Given the description of an element on the screen output the (x, y) to click on. 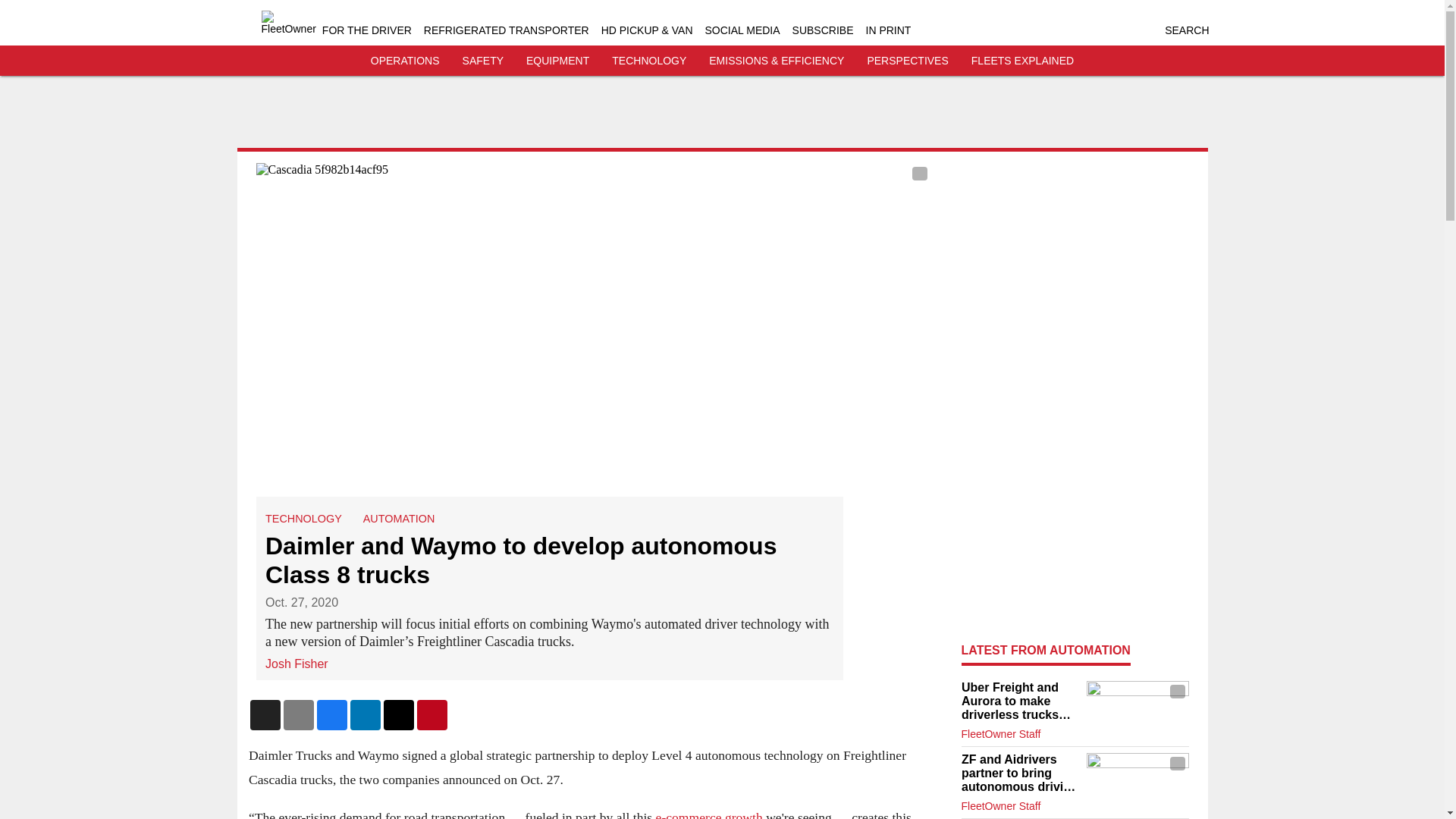
OPERATIONS (405, 60)
TECHNOLOGY (648, 60)
SEARCH (1186, 30)
SAFETY (483, 60)
FLEETS EXPLAINED (1022, 60)
Josh Fisher (296, 662)
IN PRINT (888, 30)
AUTOMATION (397, 518)
e-commerce growth (708, 814)
EQUIPMENT (557, 60)
REFRIGERATED TRANSPORTER (506, 30)
PERSPECTIVES (906, 60)
FOR THE DRIVER (366, 30)
SUBSCRIBE (822, 30)
